Given the description of an element on the screen output the (x, y) to click on. 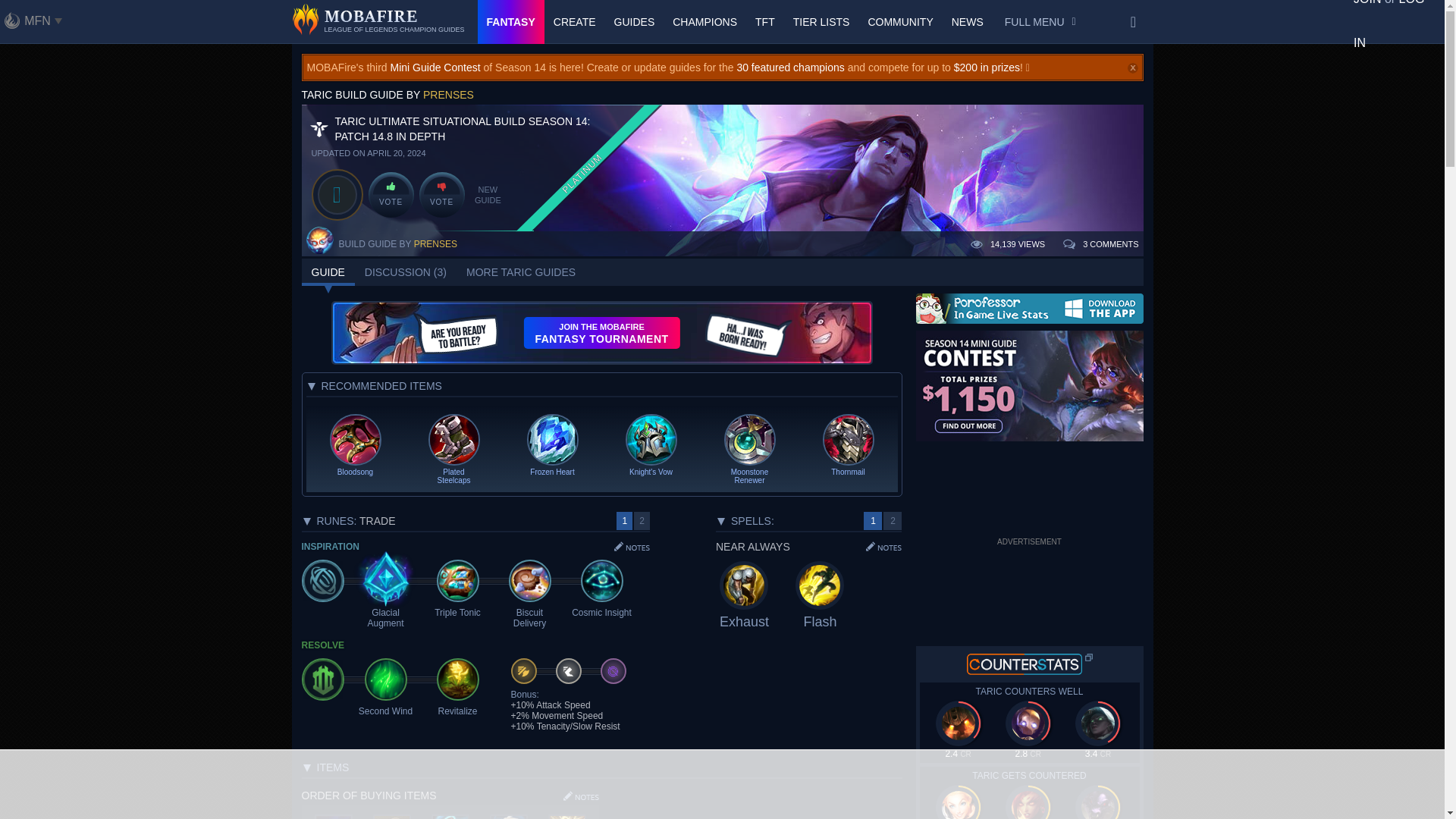
LEAGUE OF LEGENDS CHAMPION GUIDES (378, 22)
Possible (891, 520)
GUIDES (634, 22)
CREATE (574, 22)
CHAMPIONS (704, 22)
COMMUNITY (900, 22)
NEWS (967, 22)
Against ALL-IN Bot (640, 520)
FANTASY (510, 22)
Near Always (871, 520)
